Given the description of an element on the screen output the (x, y) to click on. 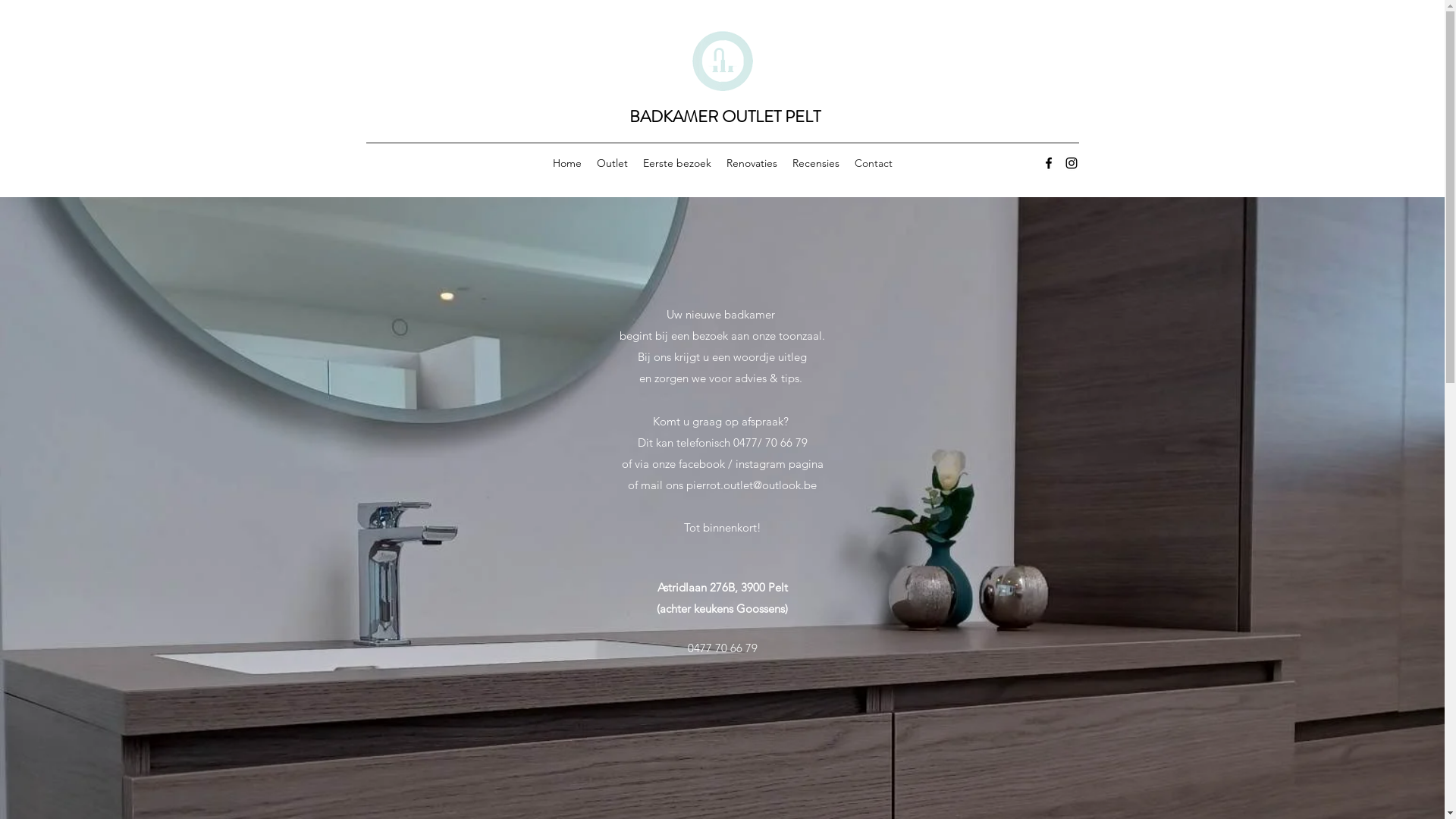
Recensies Element type: text (815, 162)
Outlet Element type: text (611, 162)
Eerste bezoek Element type: text (676, 162)
BADKAMER OUTLET PELT Element type: text (724, 116)
Home Element type: text (566, 162)
Renovaties Element type: text (751, 162)
pierrot.outlet@outlook.be Element type: text (751, 484)
Contact Element type: text (872, 162)
